Given the description of an element on the screen output the (x, y) to click on. 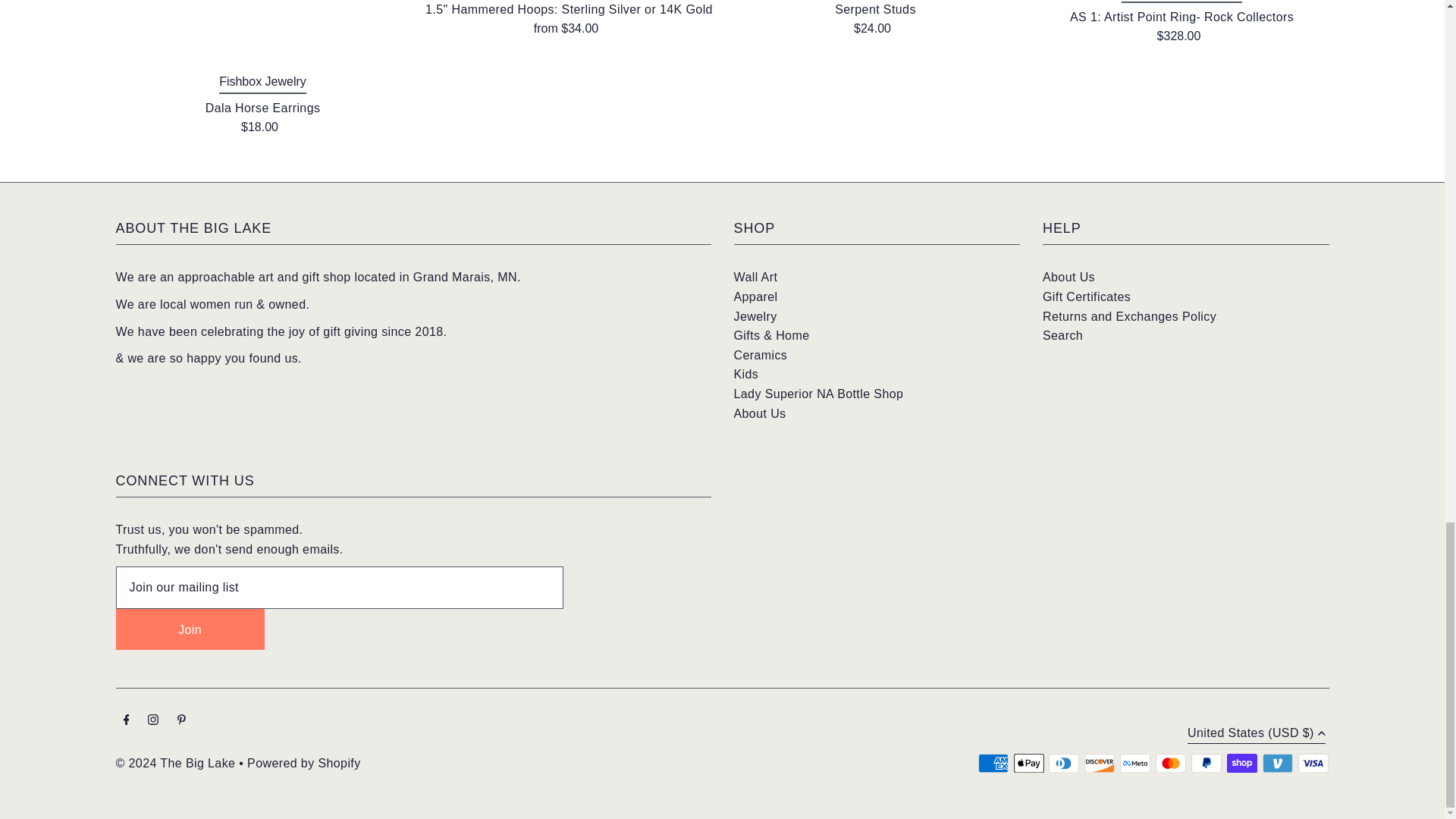
Join (189, 629)
Dala Horse Earrings (262, 29)
Diners Club (1063, 763)
Apple Pay (1028, 763)
American Express (993, 763)
